Given the description of an element on the screen output the (x, y) to click on. 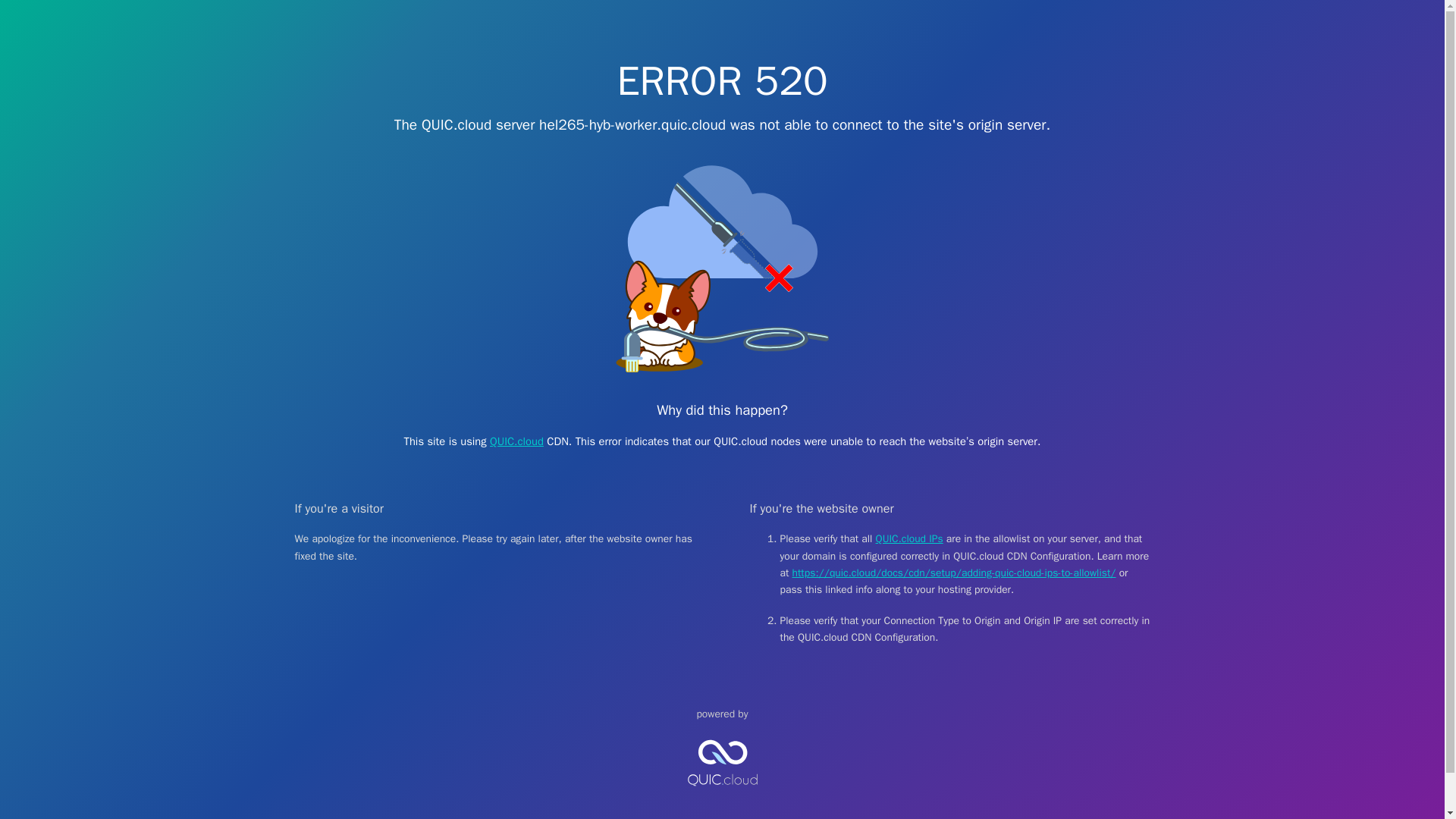
QUIC.cloud (516, 440)
QUIC.cloud IPs (909, 538)
QUIC.cloud (721, 798)
